Given the description of an element on the screen output the (x, y) to click on. 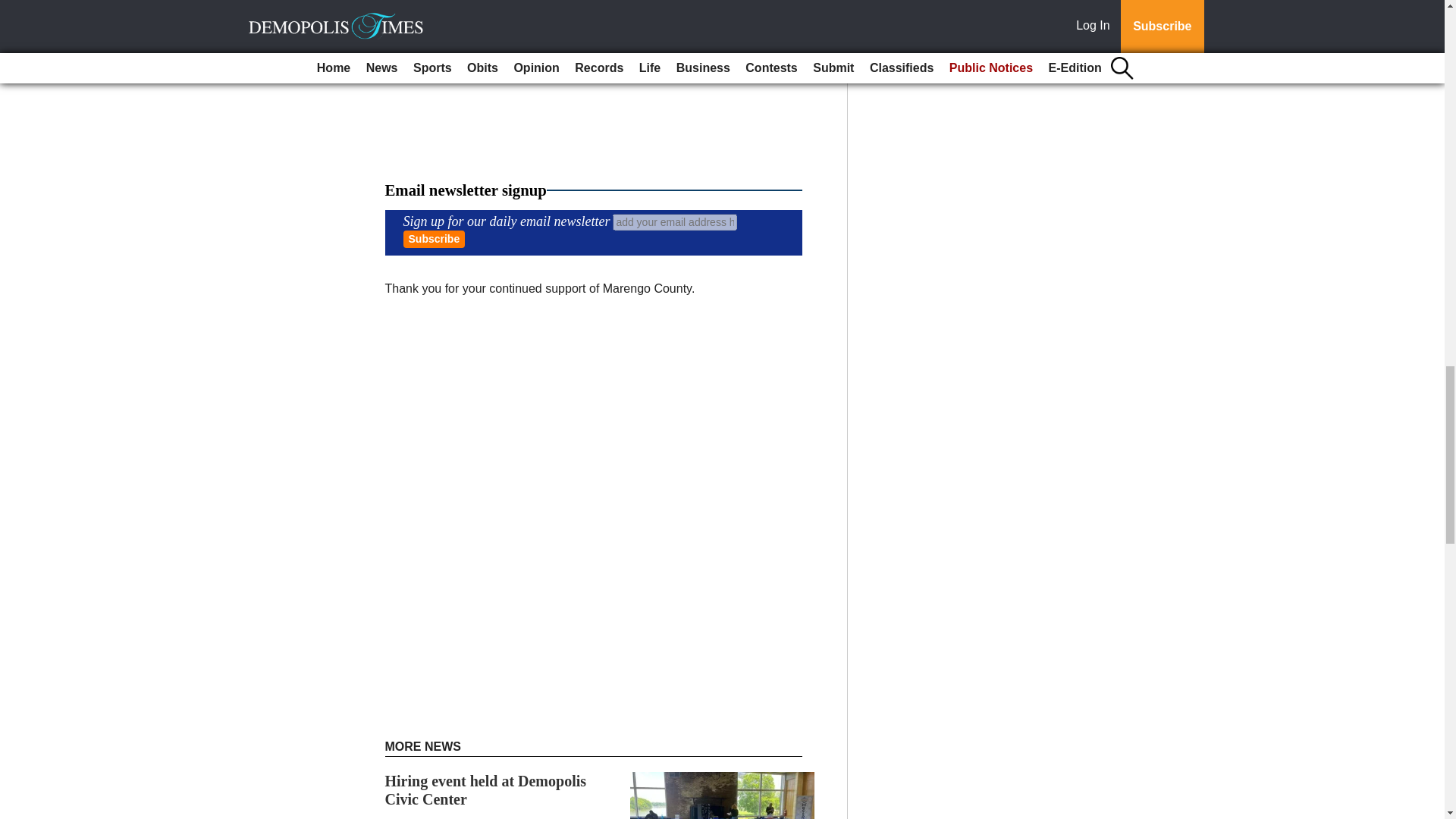
Subscribe (434, 239)
Subscribe (434, 239)
Hiring event held at Demopolis Civic Center (485, 790)
Hiring event held at Demopolis Civic Center (485, 790)
